Given the description of an element on the screen output the (x, y) to click on. 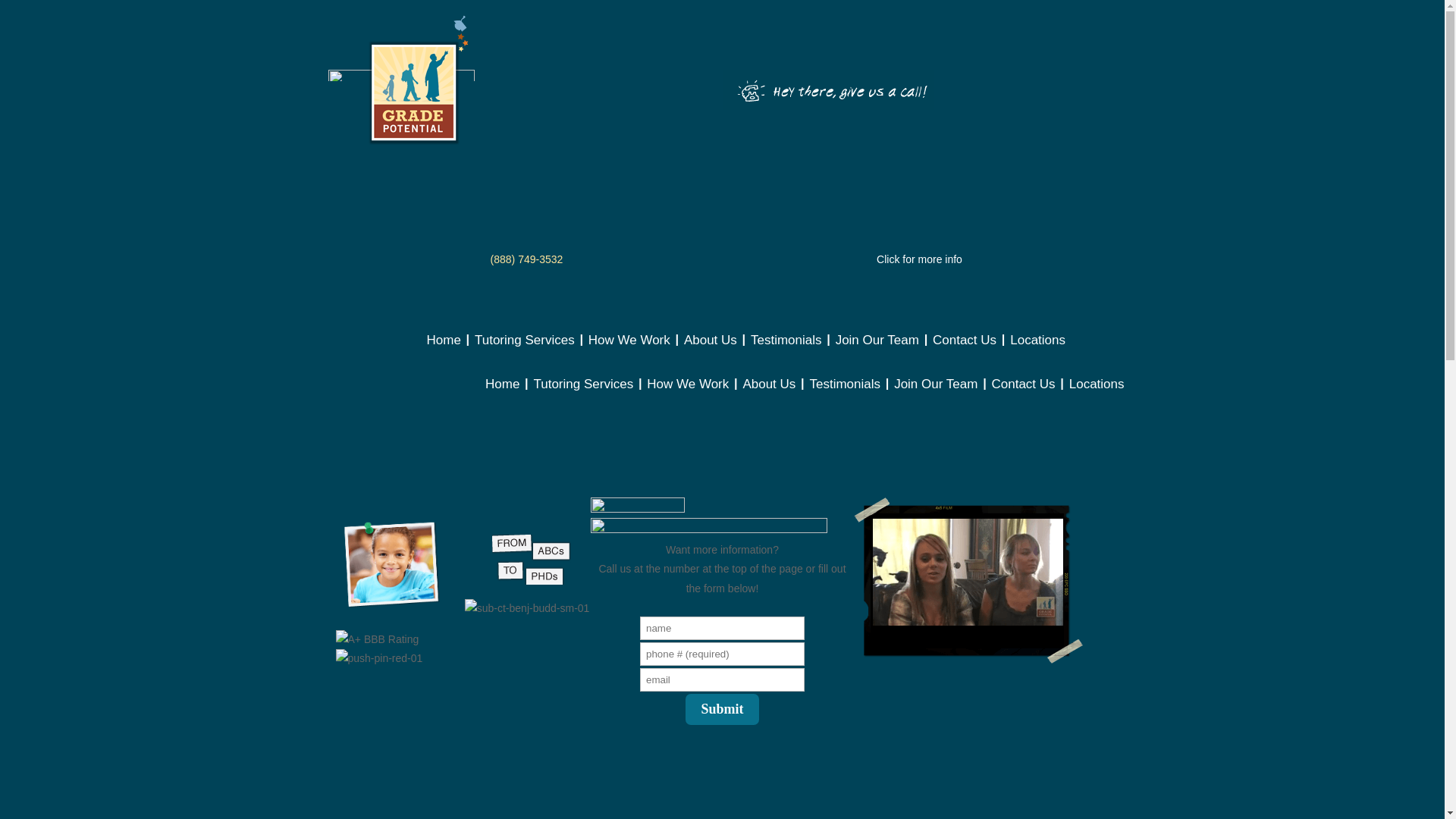
Home (501, 395)
How We Work (628, 350)
Contact Us (964, 350)
About Us (768, 395)
Home (443, 350)
How We Work (687, 395)
Testimonials (844, 395)
About Us (710, 350)
Locations (1037, 350)
Join Our Team (934, 395)
